Given the description of an element on the screen output the (x, y) to click on. 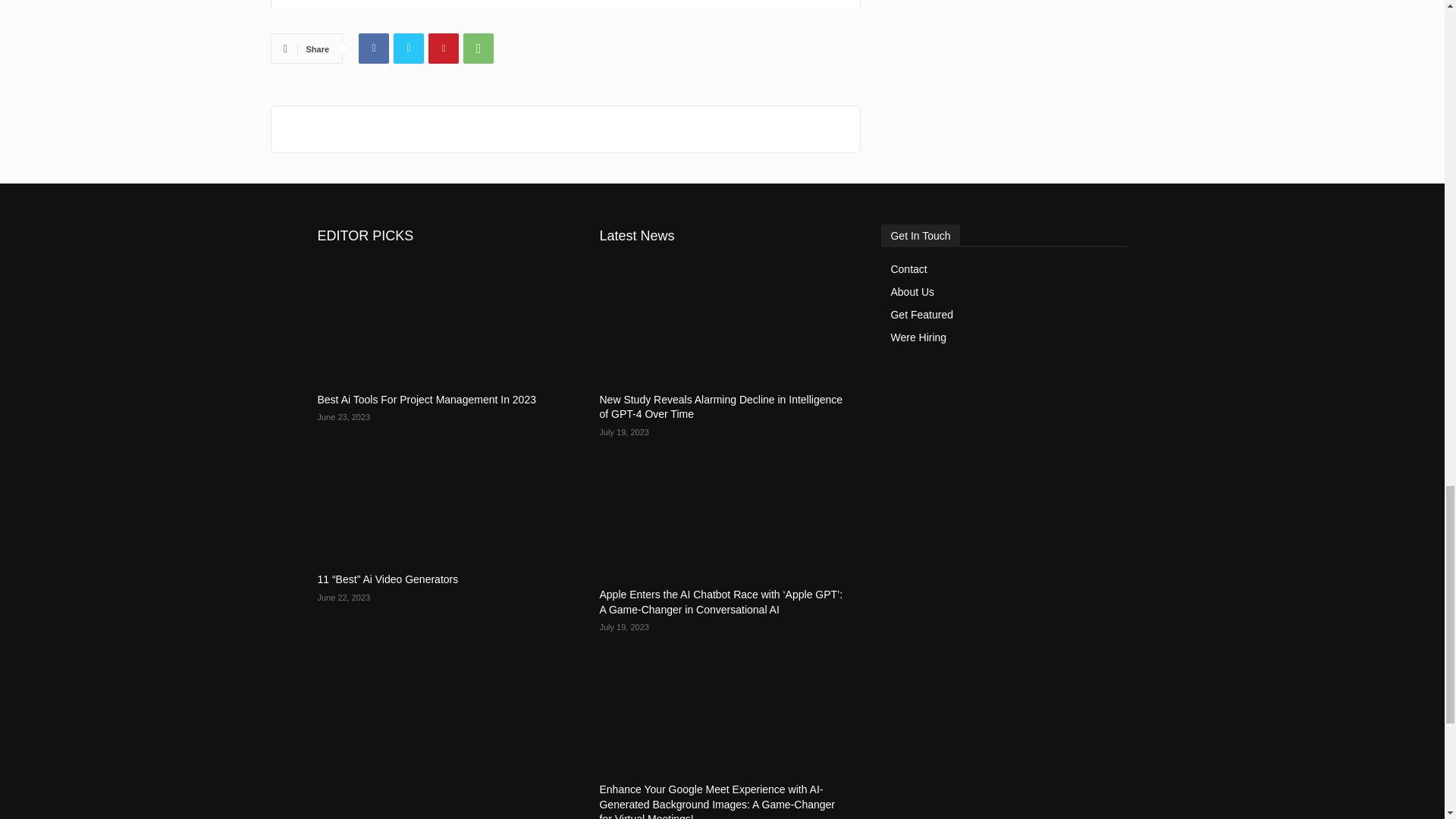
Facebook (373, 48)
Twitter (408, 48)
Pinterest (443, 48)
